Given the description of an element on the screen output the (x, y) to click on. 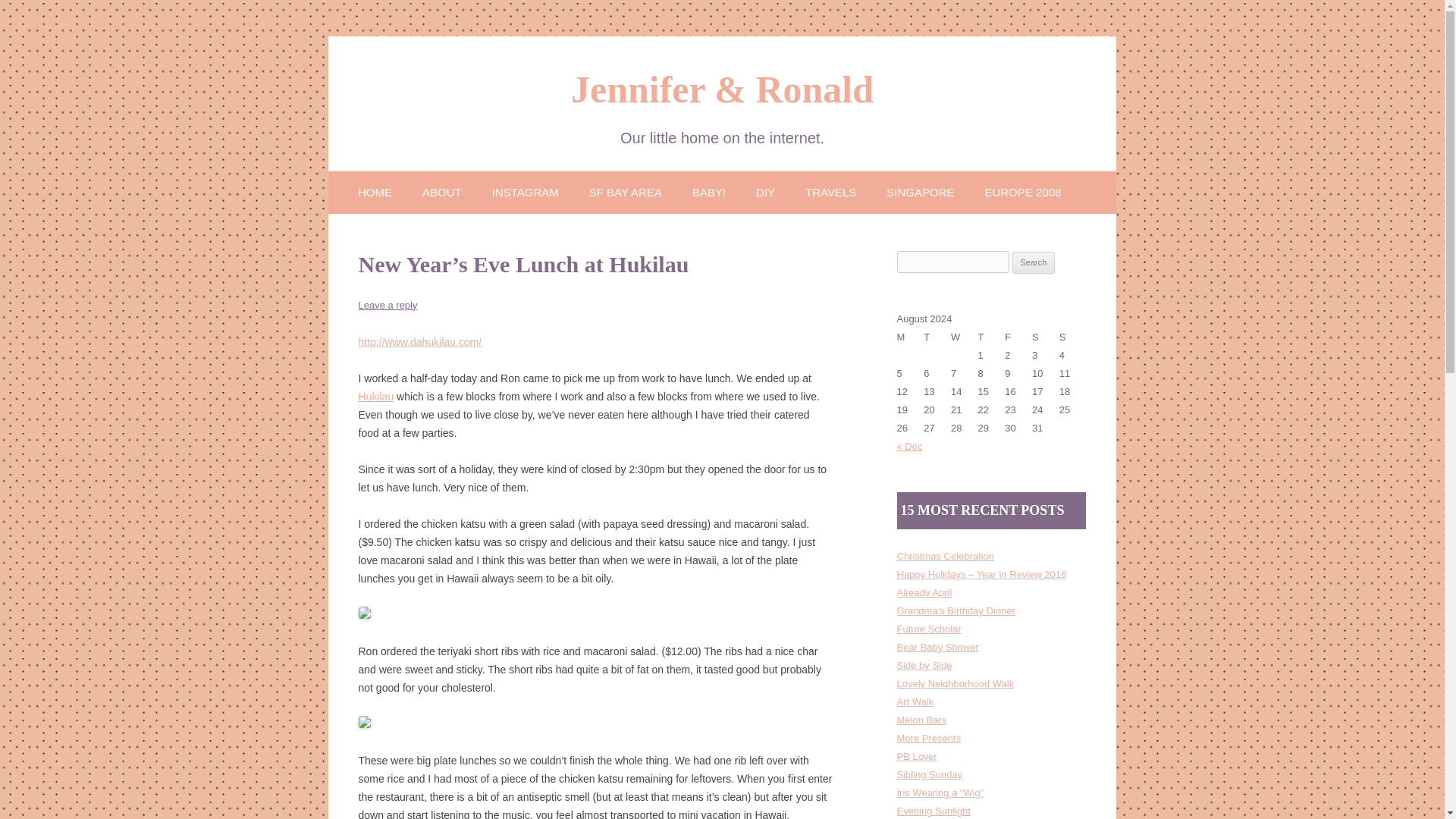
Friday (1018, 337)
PB Lover (916, 756)
Tuesday (936, 337)
Future Scholar (928, 628)
Monday (909, 337)
Sibling Sunday (929, 774)
Already April (924, 592)
Bear Baby Shower (937, 646)
Melon Bars (921, 719)
Lovely Neighborhood Walk (954, 683)
EUROPE 2008 (1022, 191)
Search (1033, 262)
SF BAY AREA (625, 191)
Christmas Celebration (944, 555)
